Given the description of an element on the screen output the (x, y) to click on. 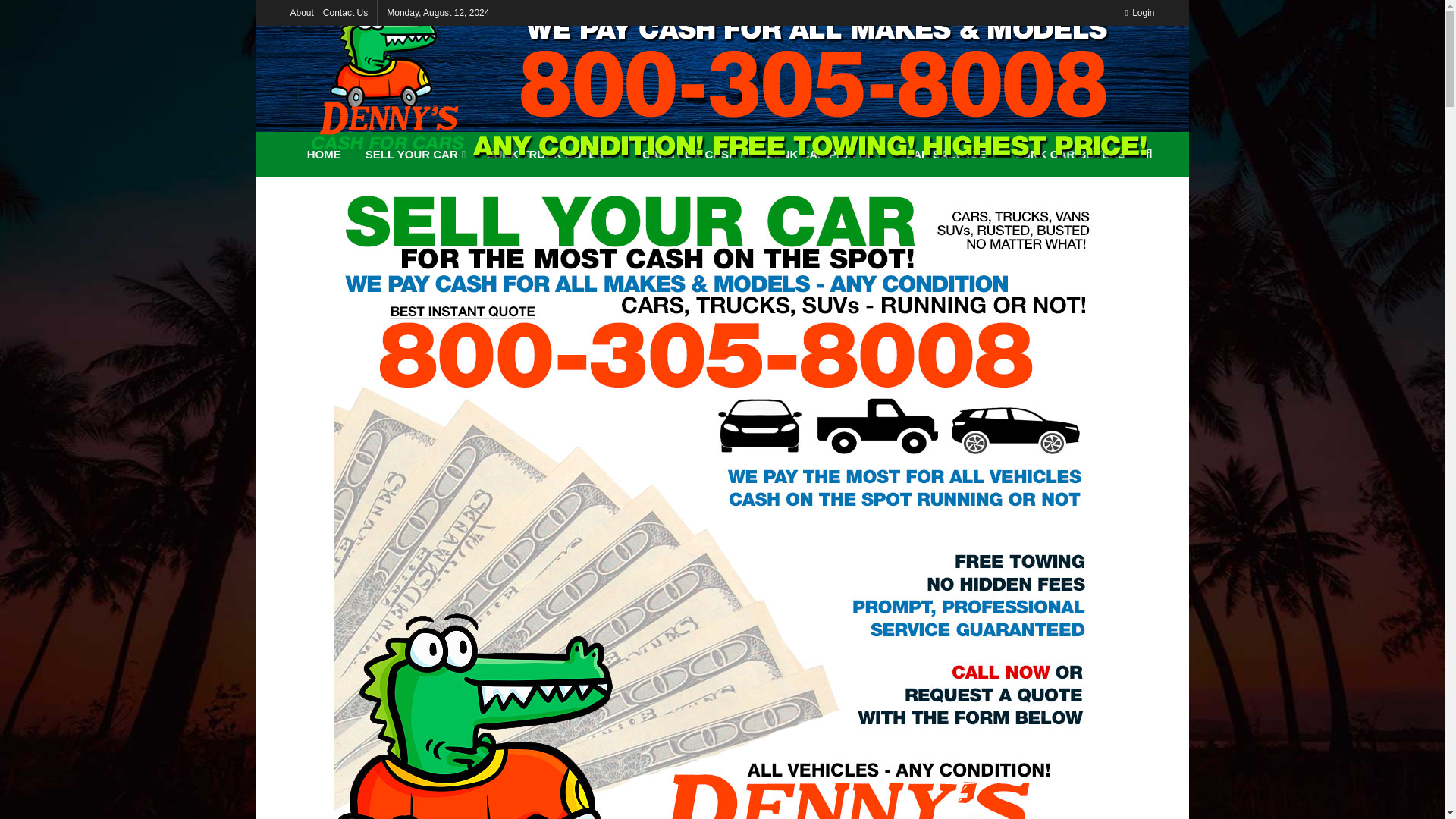
JUNK CAR BUYERS (1073, 154)
Login (1139, 12)
JUNK TRUCK BUYERS (553, 154)
HOME (324, 154)
About (301, 12)
CARS FOR CASH (692, 154)
JUNK CAR PICK UP (823, 154)
SELL YOUR CAR (414, 154)
CAR SALVAGE (947, 154)
Contact Us (345, 12)
